Given the description of an element on the screen output the (x, y) to click on. 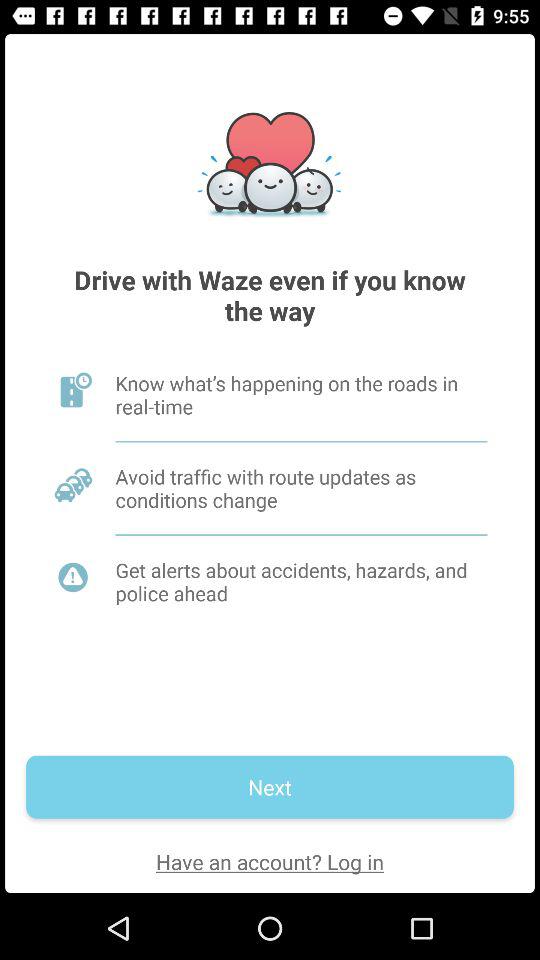
jump until the have an account icon (270, 861)
